Given the description of an element on the screen output the (x, y) to click on. 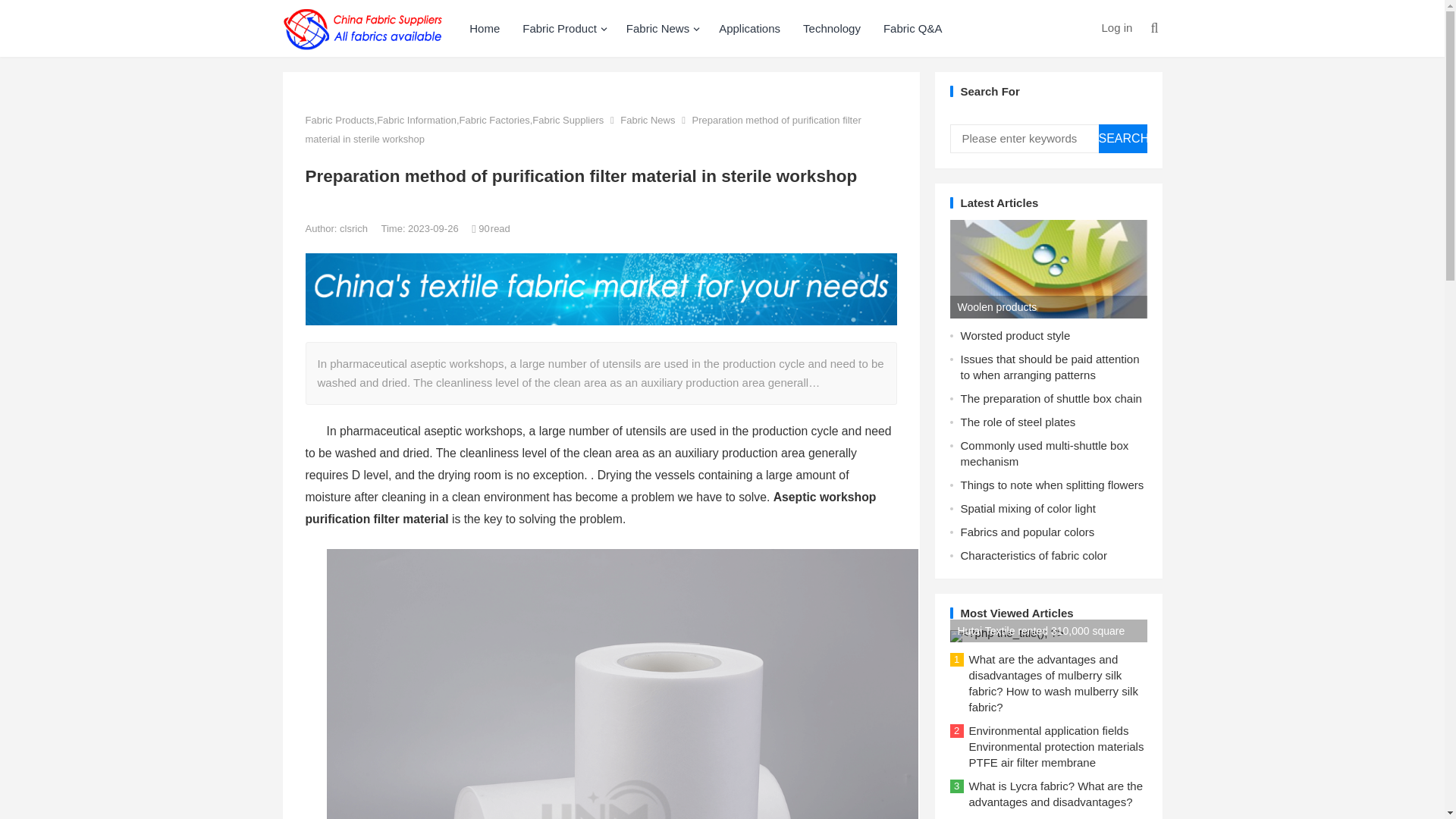
Home (484, 28)
Fabric News (660, 28)
Applications (749, 28)
Fabric Product (562, 28)
Technology (832, 28)
Log in (1116, 27)
